Given the description of an element on the screen output the (x, y) to click on. 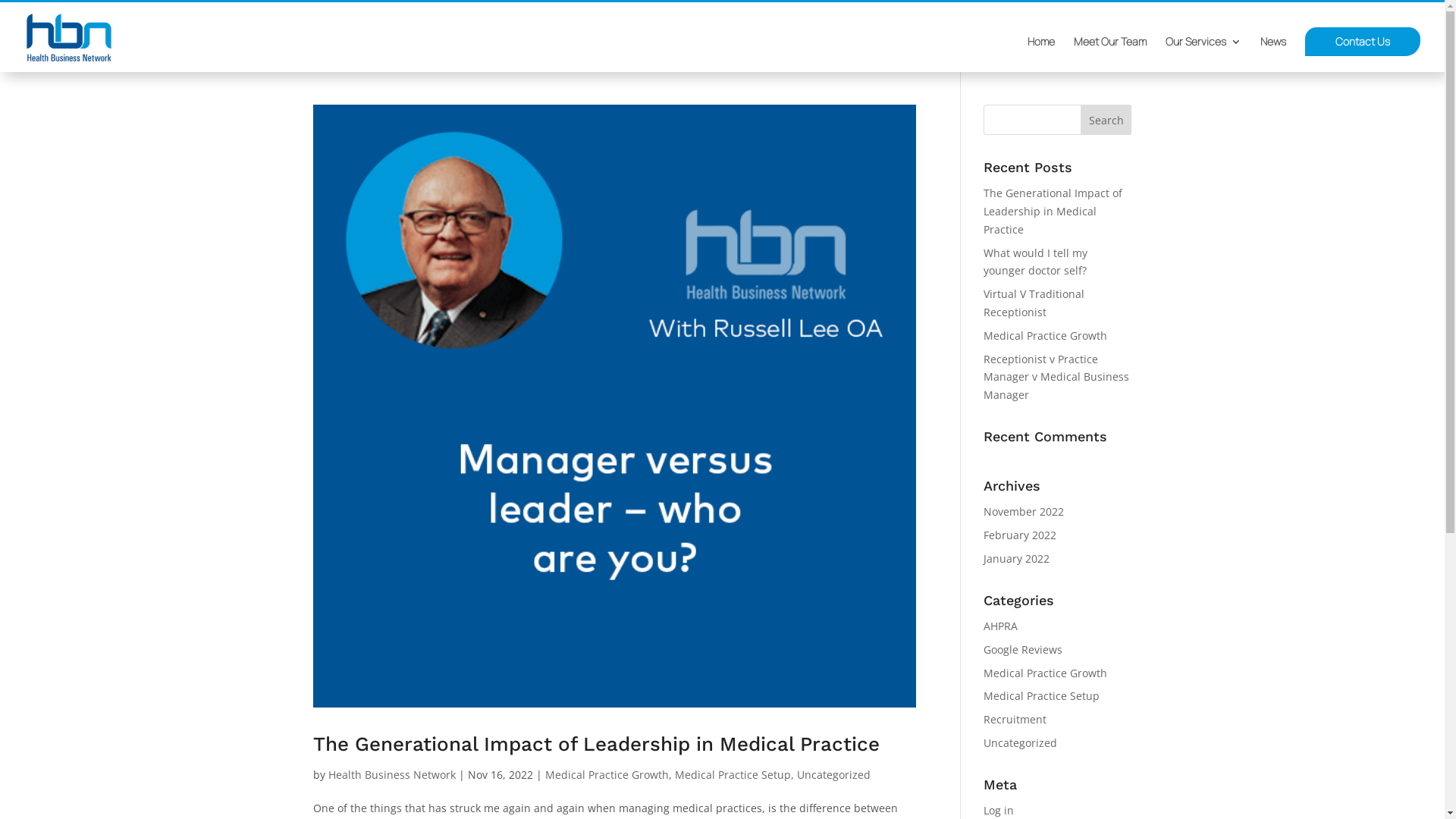
Google Reviews Element type: text (1022, 649)
Search Element type: text (1106, 119)
Medical Practice Growth Element type: text (1045, 335)
Medical Practice Growth Element type: text (606, 774)
Uncategorized Element type: text (1020, 742)
February 2022 Element type: text (1019, 534)
The Generational Impact of Leadership in Medical Practice Element type: text (1052, 210)
Virtual V Traditional Receptionist Element type: text (1033, 302)
Uncategorized Element type: text (832, 774)
Log in Element type: text (998, 810)
Medical Practice Setup Element type: text (732, 774)
Medical Practice Growth Element type: text (1045, 672)
Meet Our Team Element type: text (1109, 54)
Our Services Element type: text (1203, 54)
January 2022 Element type: text (1016, 558)
Recruitment Element type: text (1014, 719)
Home Element type: text (1040, 54)
The Generational Impact of Leadership in Medical Practice Element type: text (595, 743)
Health Business Network Element type: text (391, 774)
November 2022 Element type: text (1023, 511)
What would I tell my younger doctor self? Element type: text (1035, 261)
Receptionist v Practice Manager v Medical Business Manager Element type: text (1056, 376)
Medical Practice Setup Element type: text (1041, 695)
News Element type: text (1273, 54)
AHPRA Element type: text (1000, 625)
Contact Us Element type: text (1362, 41)
